Given the description of an element on the screen output the (x, y) to click on. 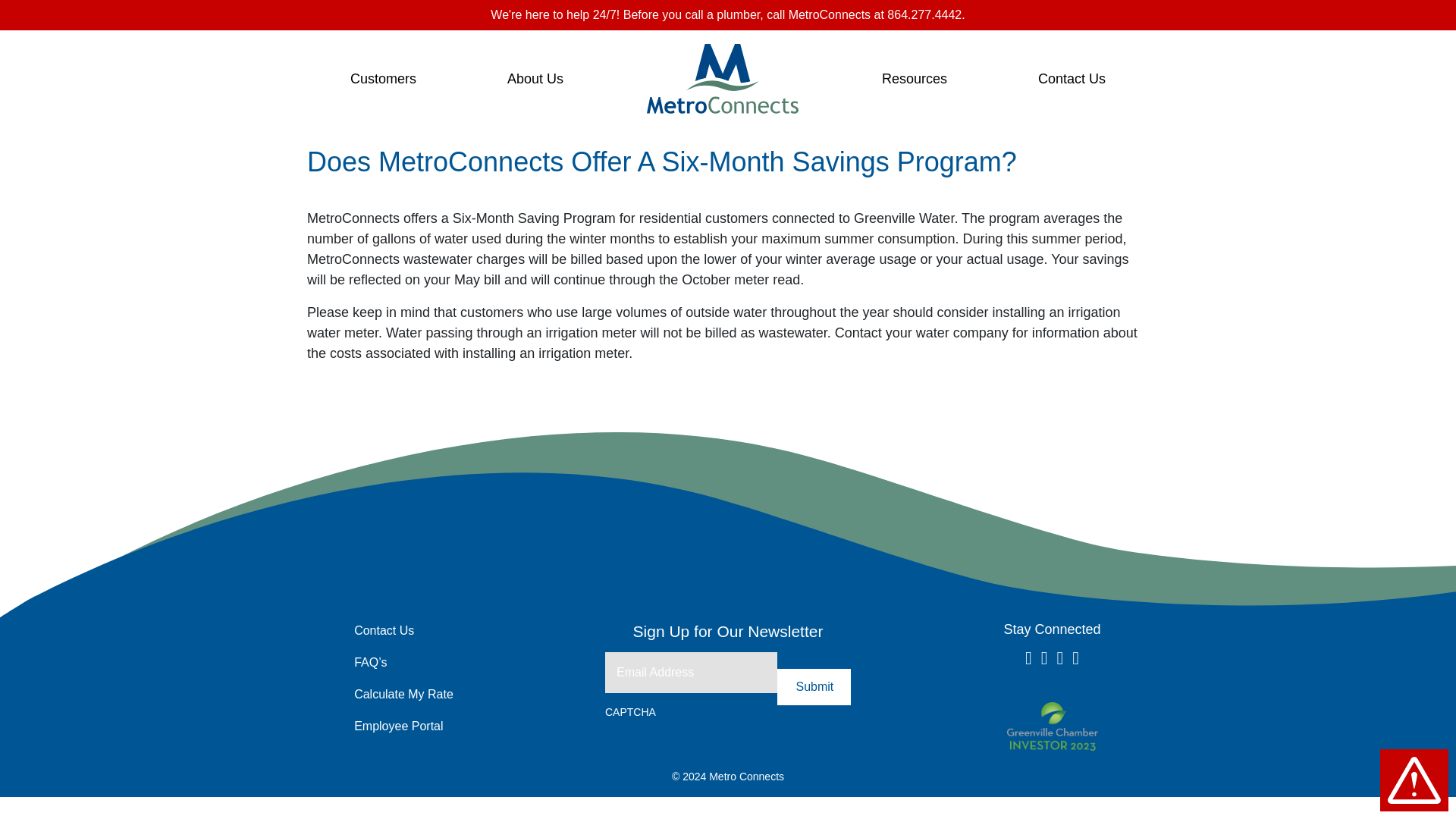
About Us (534, 78)
Submit (813, 687)
Resources (915, 78)
Customers (382, 78)
